Given the description of an element on the screen output the (x, y) to click on. 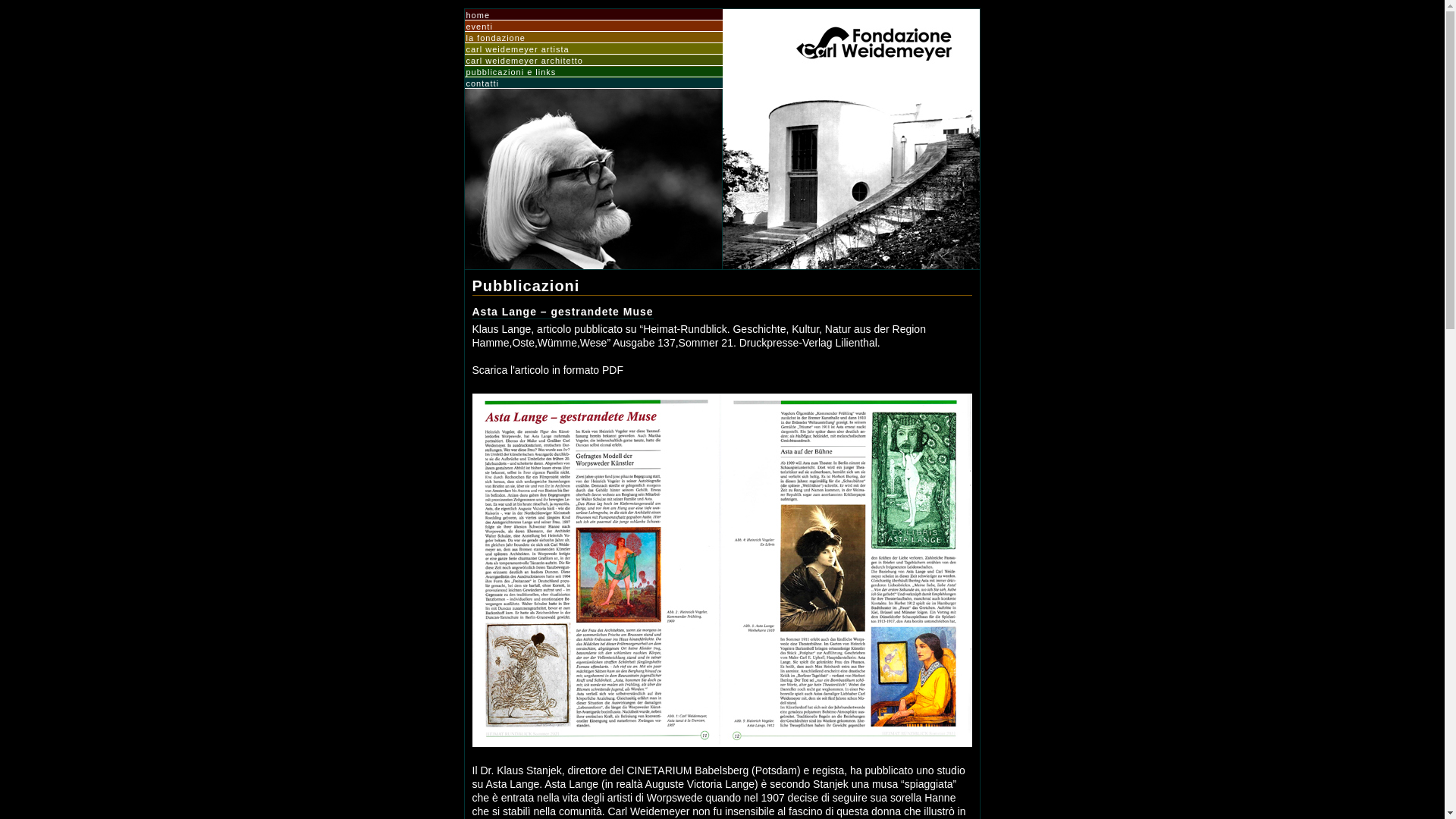
contatti Element type: text (593, 82)
carl weidemeyer artista Element type: text (593, 48)
carl weidemeyer architetto Element type: text (593, 60)
home Element type: text (593, 14)
eventi Element type: text (593, 26)
la fondazione Element type: text (593, 37)
Scarica l'articolo in formato PDF Element type: text (547, 370)
